Given the description of an element on the screen output the (x, y) to click on. 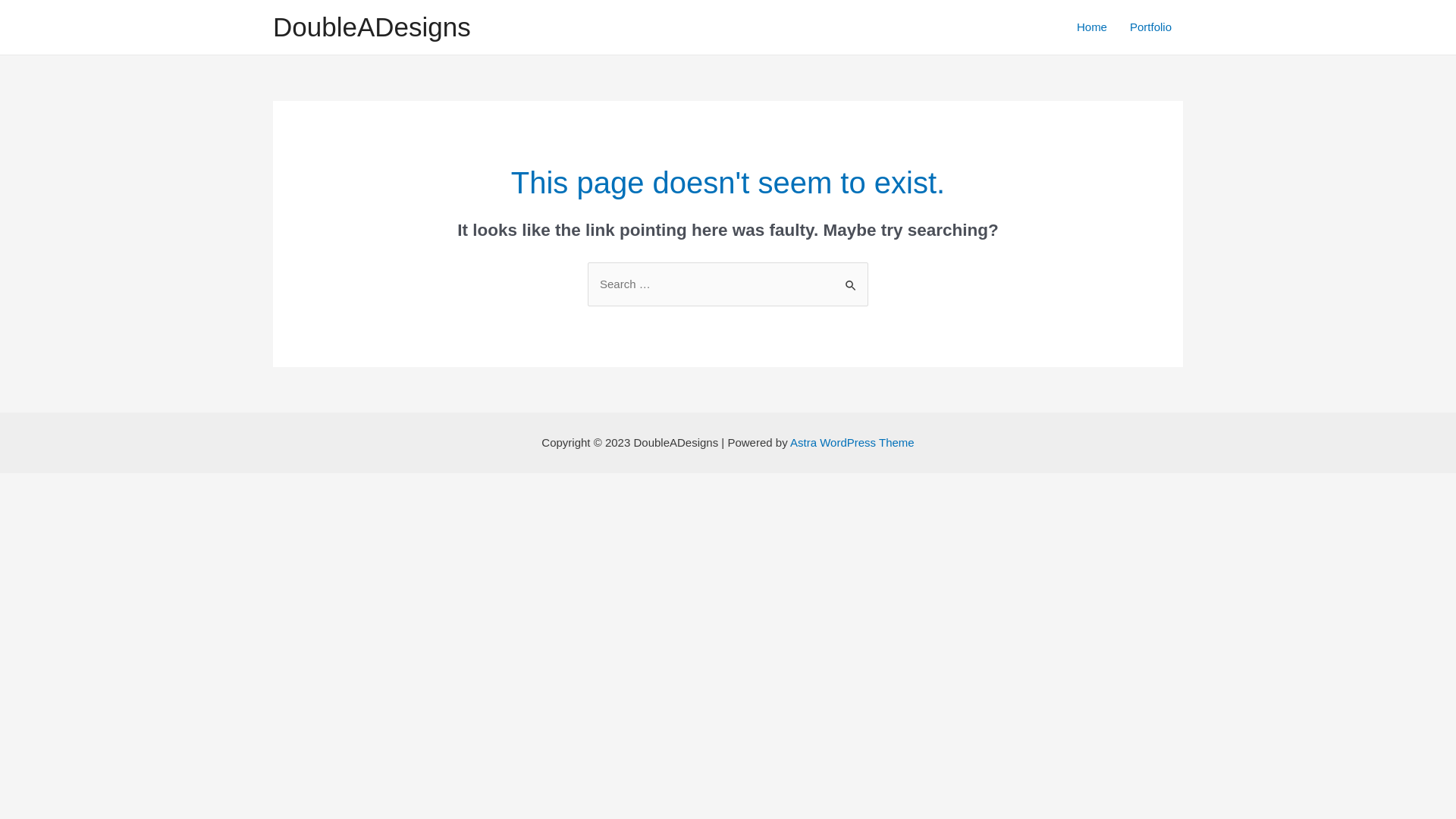
Astra WordPress Theme Element type: text (852, 442)
DoubleADesigns Element type: text (371, 26)
Search Element type: text (851, 277)
Portfolio Element type: text (1150, 26)
Home Element type: text (1091, 26)
